Given the description of an element on the screen output the (x, y) to click on. 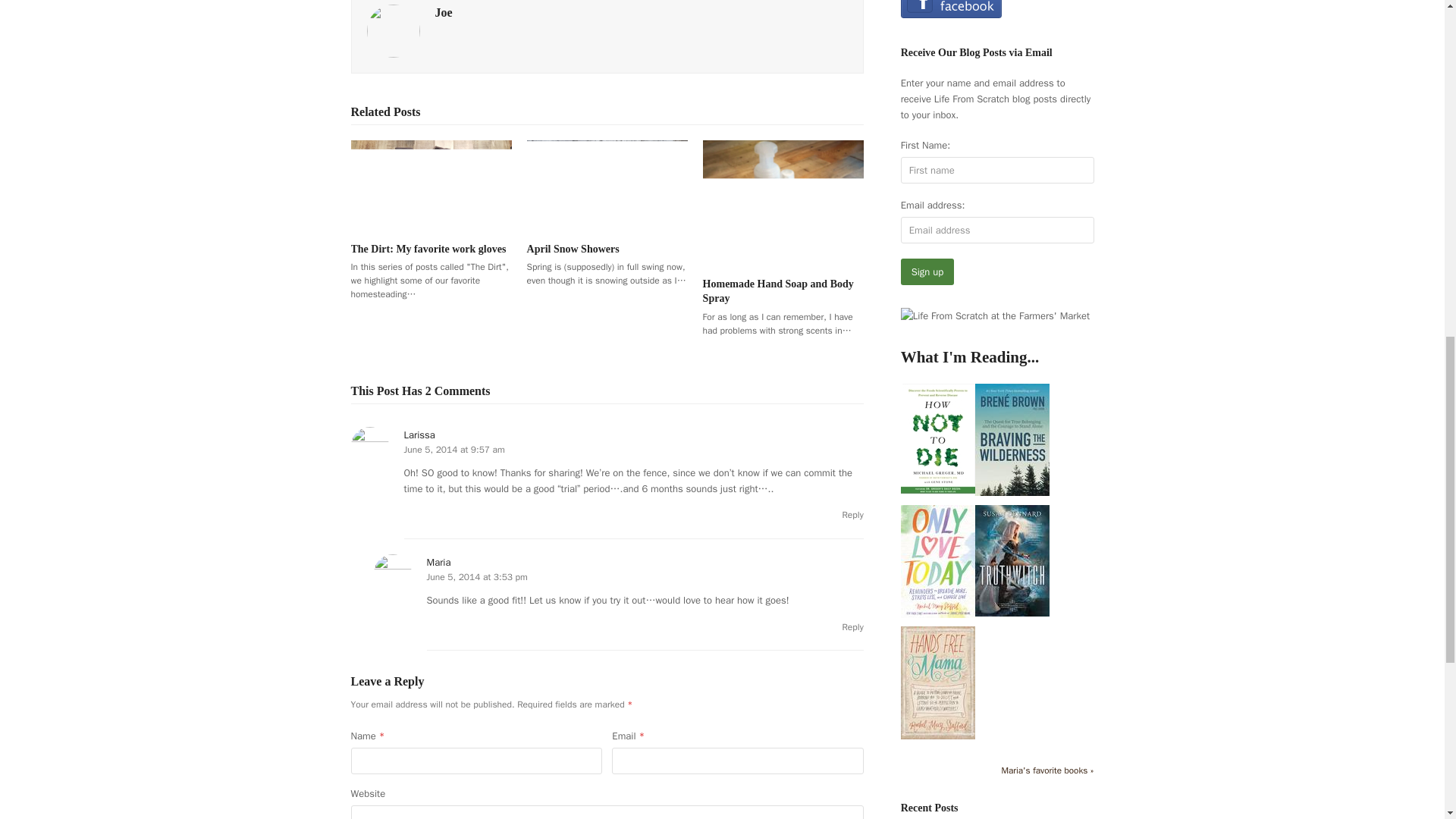
Sign up (928, 271)
The Dirt: My favorite work gloves (427, 248)
Reply (852, 514)
April Snow Showers (573, 248)
Reply (852, 626)
find us on Facebook (951, 14)
Homemade Hand Soap and Body Spray (778, 290)
